Given the description of an element on the screen output the (x, y) to click on. 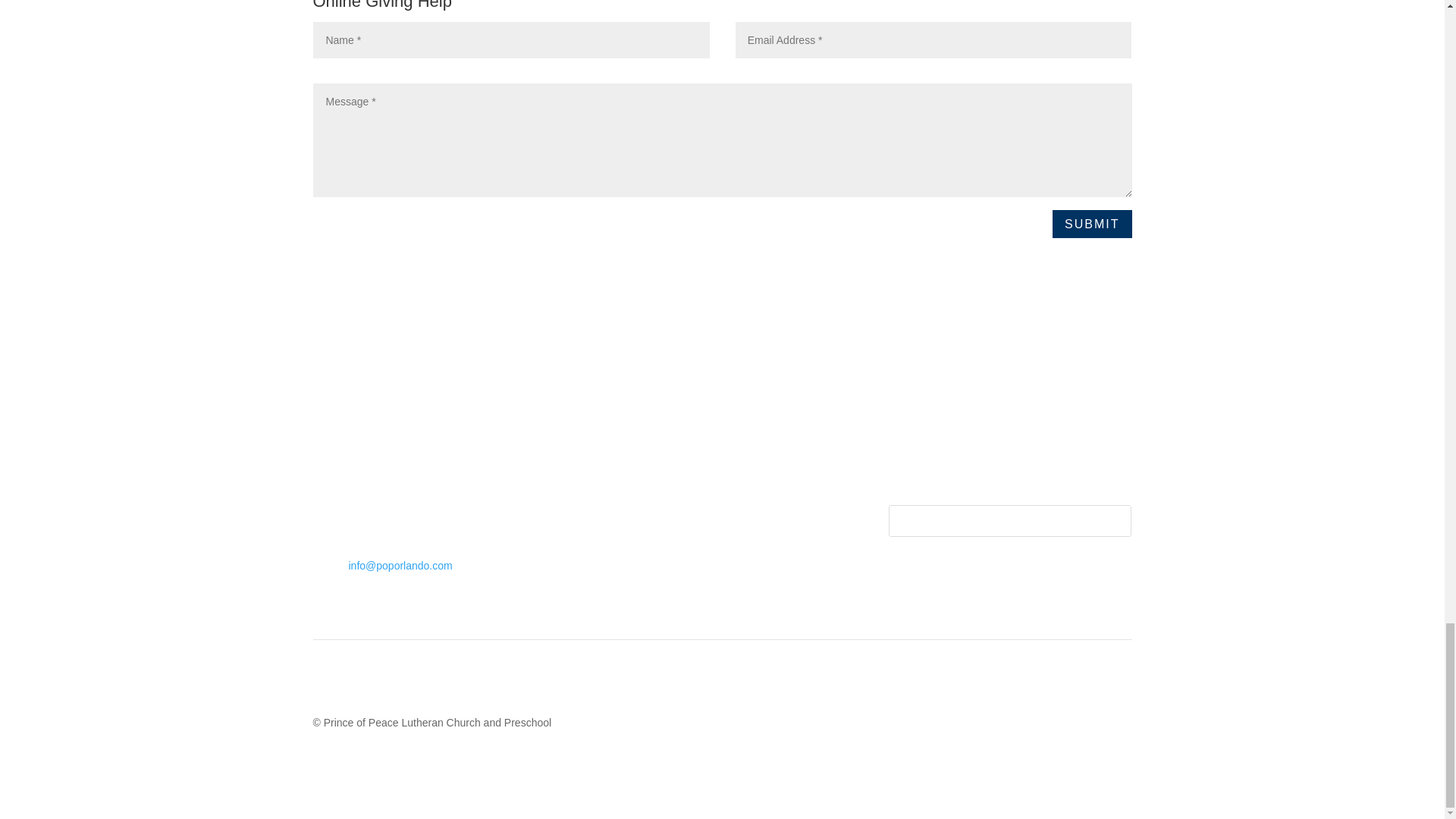
Follow on Youtube (991, 463)
Follow on X (930, 463)
Search (1104, 521)
Search (1104, 521)
Search (1104, 521)
SUBMIT (1091, 223)
Follow on Facebook (900, 463)
Follow on Instagram (961, 463)
